Given the description of an element on the screen output the (x, y) to click on. 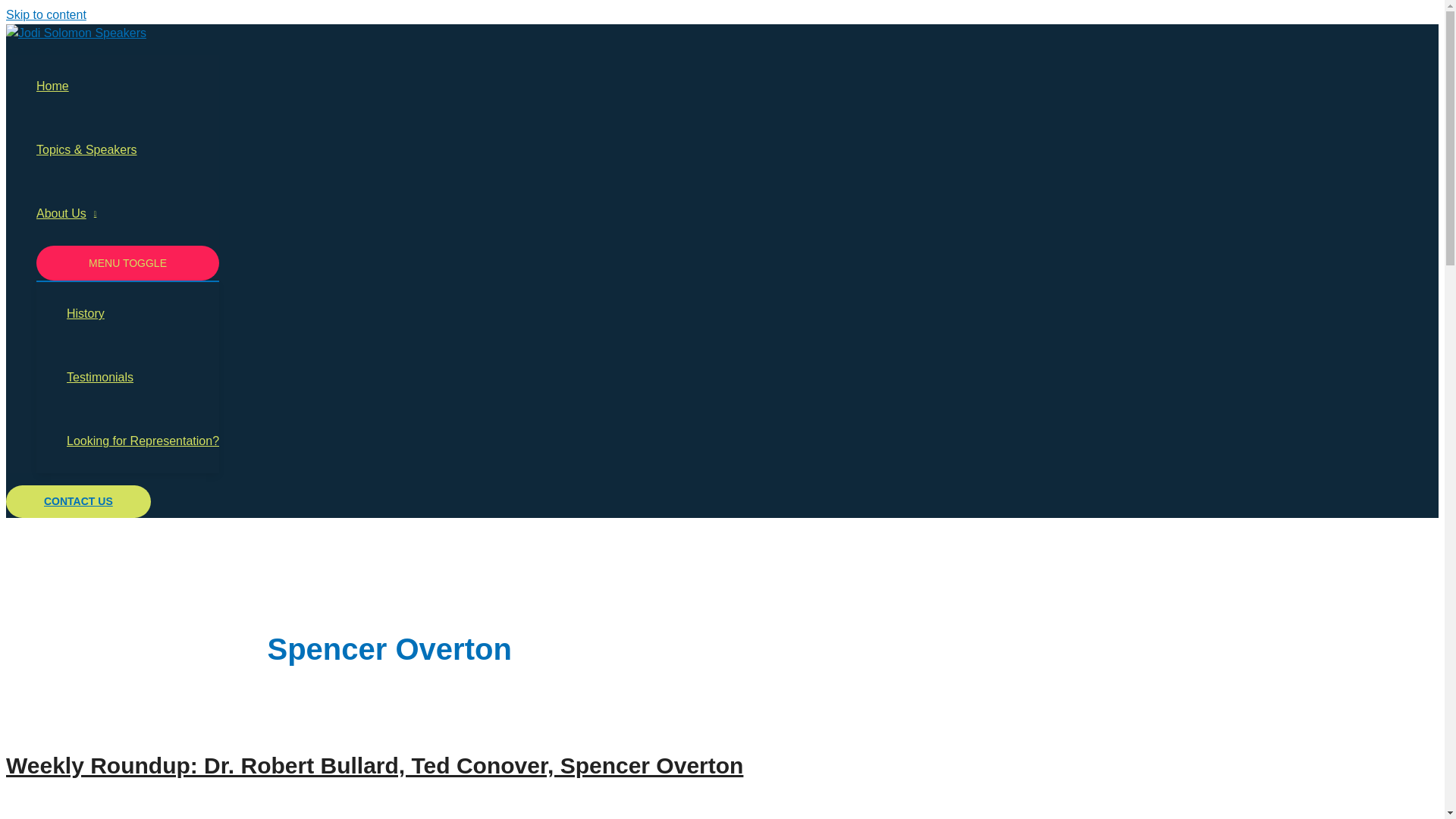
Testimonials (142, 377)
MENU TOGGLE (127, 263)
Skip to content (45, 14)
Home (127, 85)
About Us (127, 213)
Skip to content (45, 14)
Looking for Representation? (142, 441)
CONTACT US (78, 501)
History (142, 313)
